Given the description of an element on the screen output the (x, y) to click on. 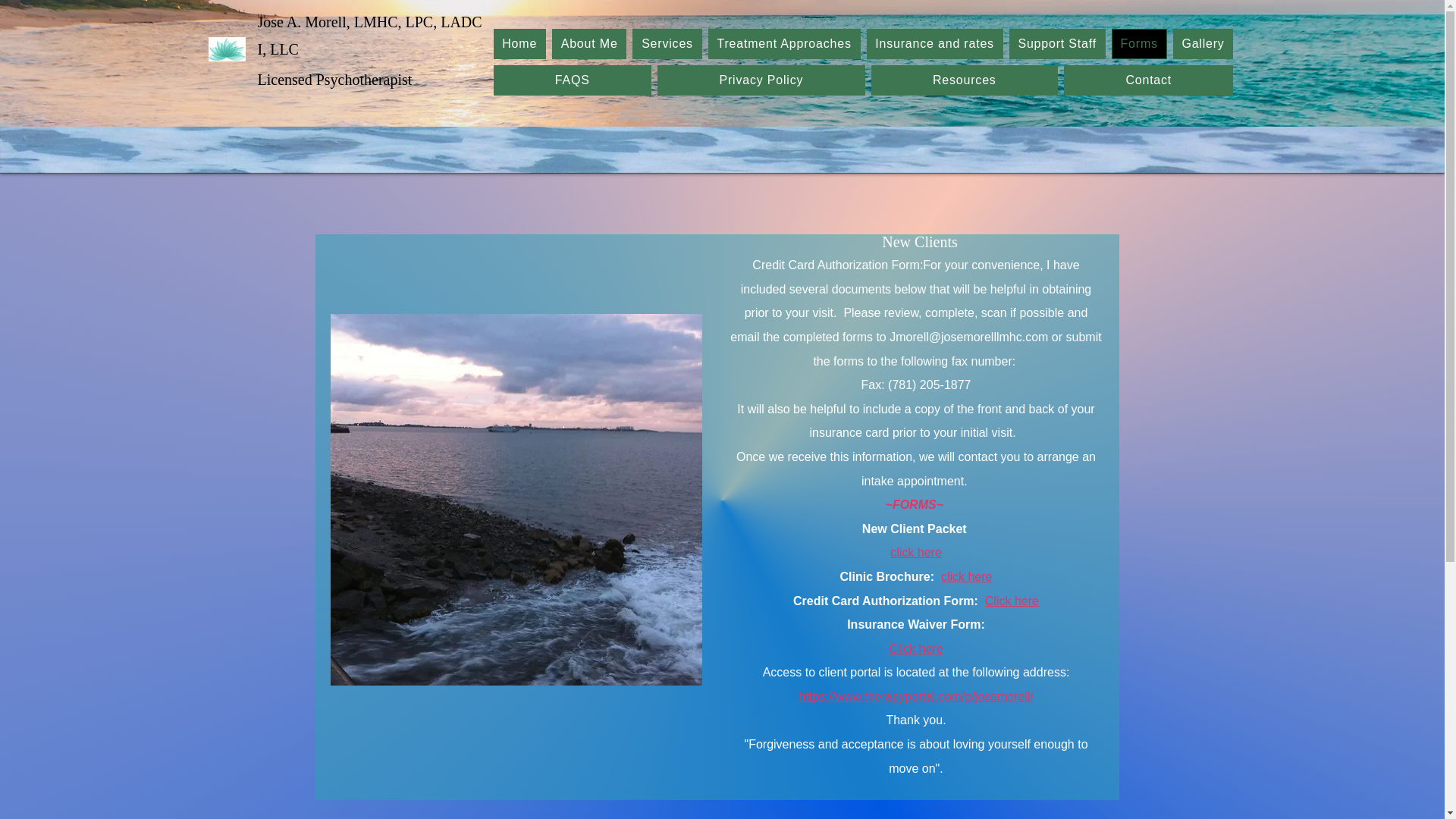
FAQS (571, 80)
Resources (964, 80)
Insurance and rates (934, 43)
Privacy Policy (761, 80)
Services (666, 43)
Gallery (1203, 43)
Home (518, 43)
Treatment Approaches (783, 43)
Support Staff (1057, 43)
Contact (1148, 80)
click here (915, 552)
Forms (1139, 43)
About Me (588, 43)
